Given the description of an element on the screen output the (x, y) to click on. 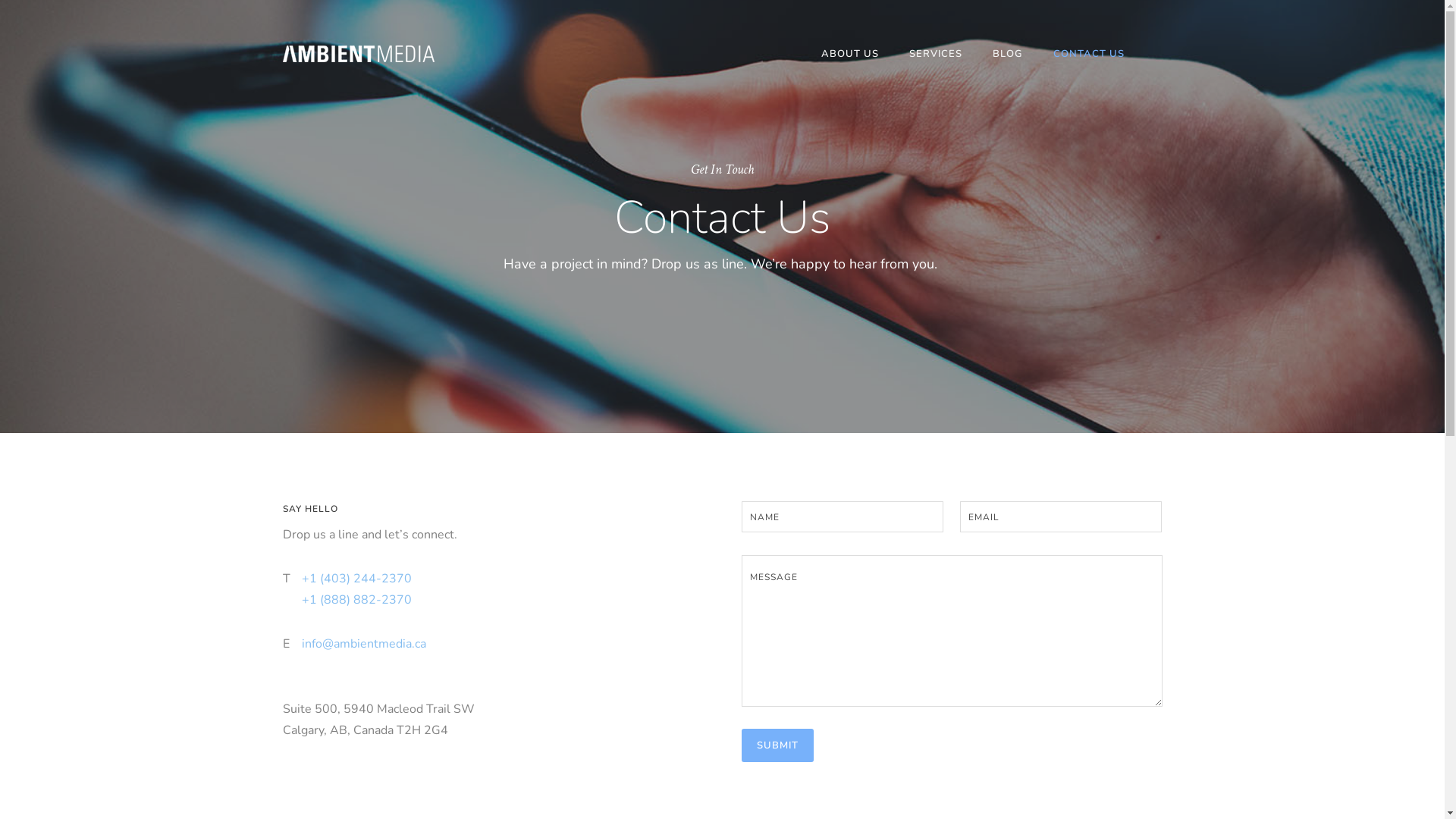
CONTACT US Element type: text (1088, 53)
info@ambientmedia.ca Element type: text (363, 643)
SERVICES Element type: text (934, 53)
+1 (888) 882-2370 Element type: text (356, 599)
+1 (403) 244-2370 Element type: text (356, 578)
BLOG Element type: text (1006, 53)
ABOUT US Element type: text (849, 53)
Submit Element type: text (777, 745)
